Given the description of an element on the screen output the (x, y) to click on. 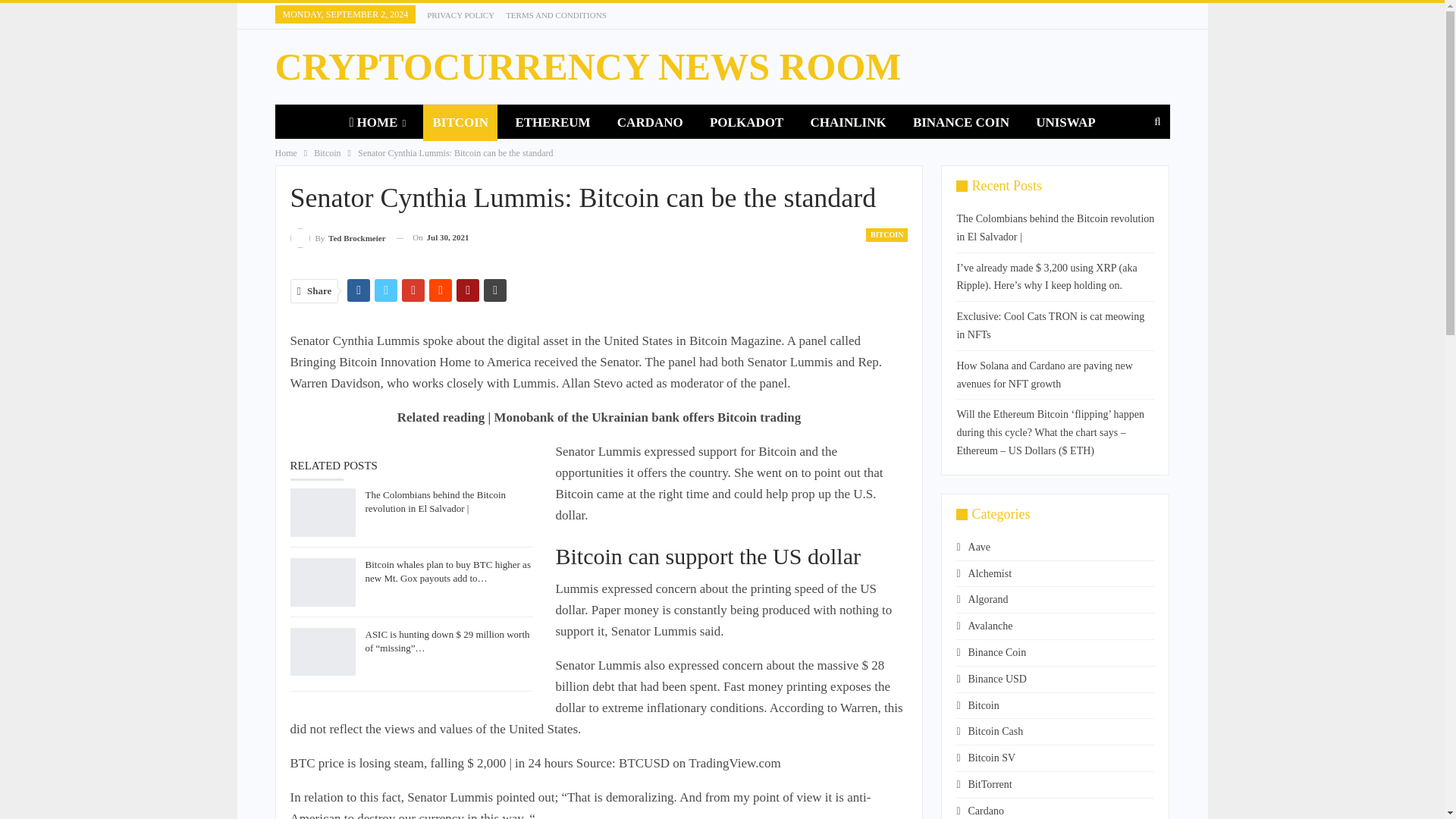
CRYPTOCURRENCY NEWS ROOM (588, 66)
PRIVACY POLICY (460, 14)
TERMS AND CONDITIONS (556, 14)
ETHEREUM (551, 122)
BINANCE COIN (960, 122)
HOME (376, 122)
BITCOIN (460, 122)
CHAINLINK (848, 122)
CARDANO (650, 122)
